Given the description of an element on the screen output the (x, y) to click on. 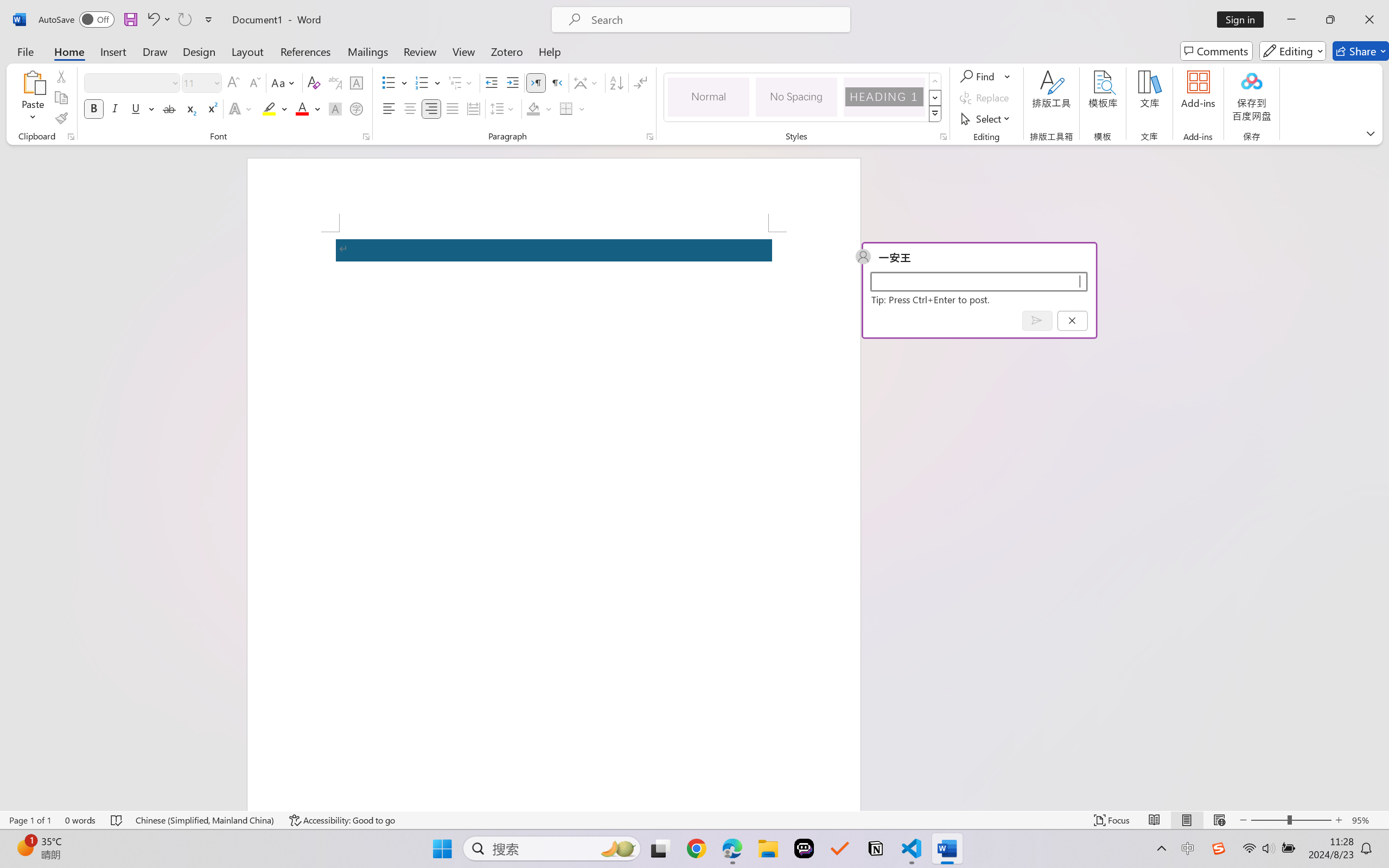
Repeat TCSCTranslate (184, 19)
